Given the description of an element on the screen output the (x, y) to click on. 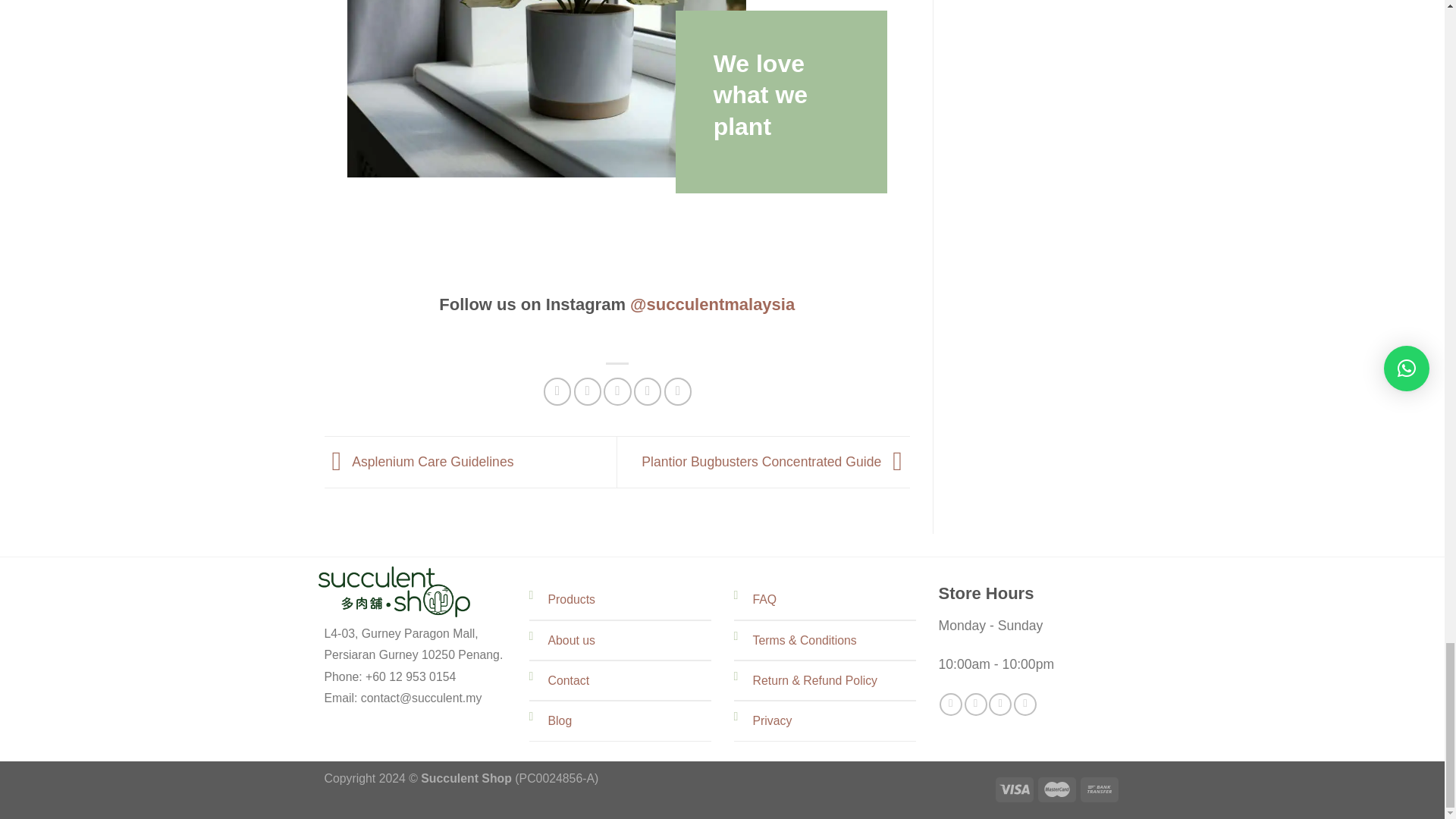
Plantior Bugbusters Concentrated Guide (776, 461)
Share on LinkedIn (677, 390)
Pin on Pinterest (647, 390)
Share on Twitter (587, 390)
Share on Facebook (556, 390)
Asplenium Care Guidelines (418, 461)
Email to a Friend (617, 390)
